Given the description of an element on the screen output the (x, y) to click on. 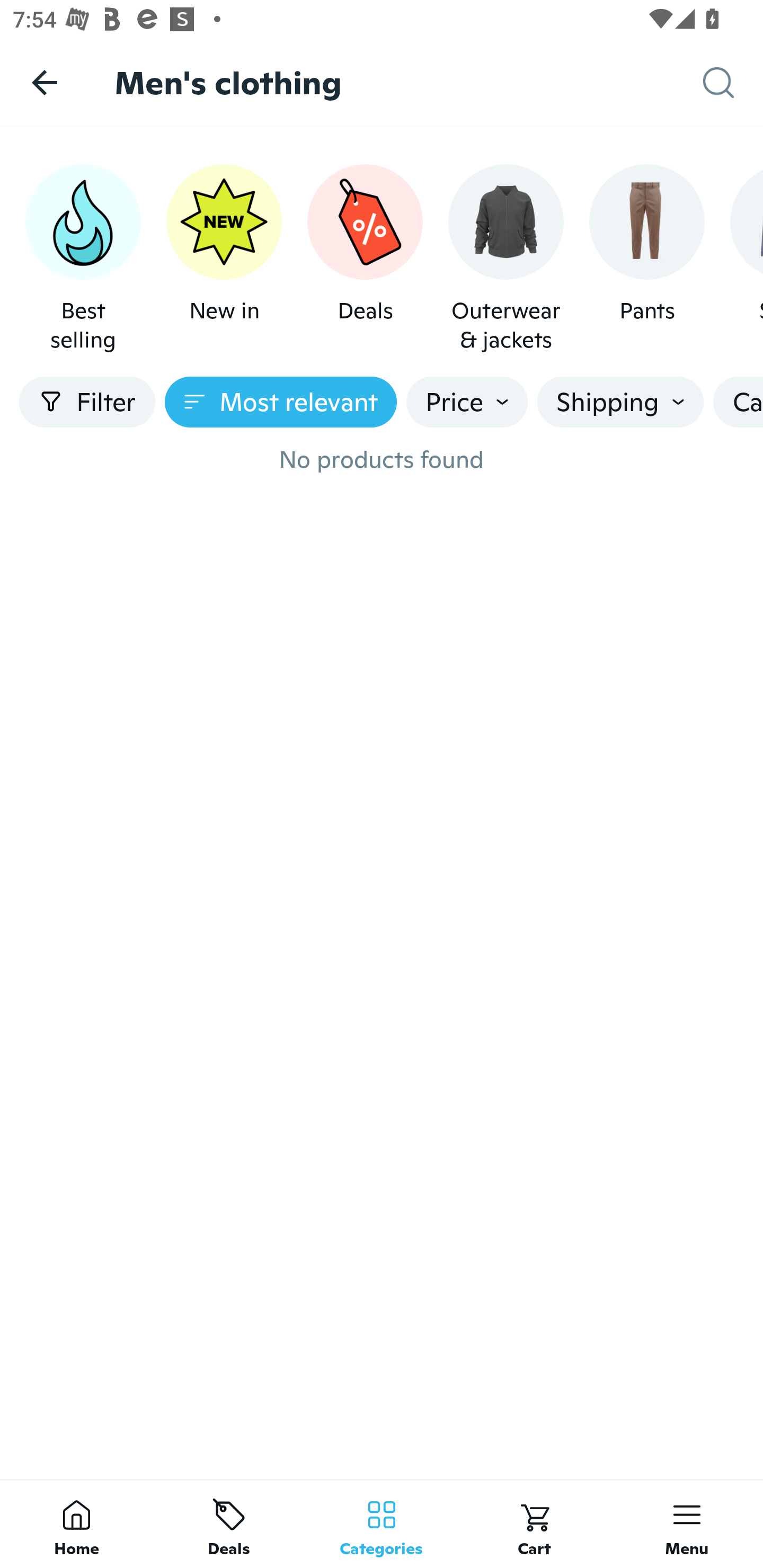
Navigate up (44, 82)
Search (732, 82)
Best selling (83, 259)
New in (223, 259)
Deals (364, 259)
Outerwear & jackets (505, 259)
Pants (647, 259)
Filter (86, 402)
Most relevant (280, 402)
Price (466, 402)
Shipping (620, 402)
Home (76, 1523)
Deals (228, 1523)
Categories (381, 1523)
Cart (533, 1523)
Menu (686, 1523)
